Given the description of an element on the screen output the (x, y) to click on. 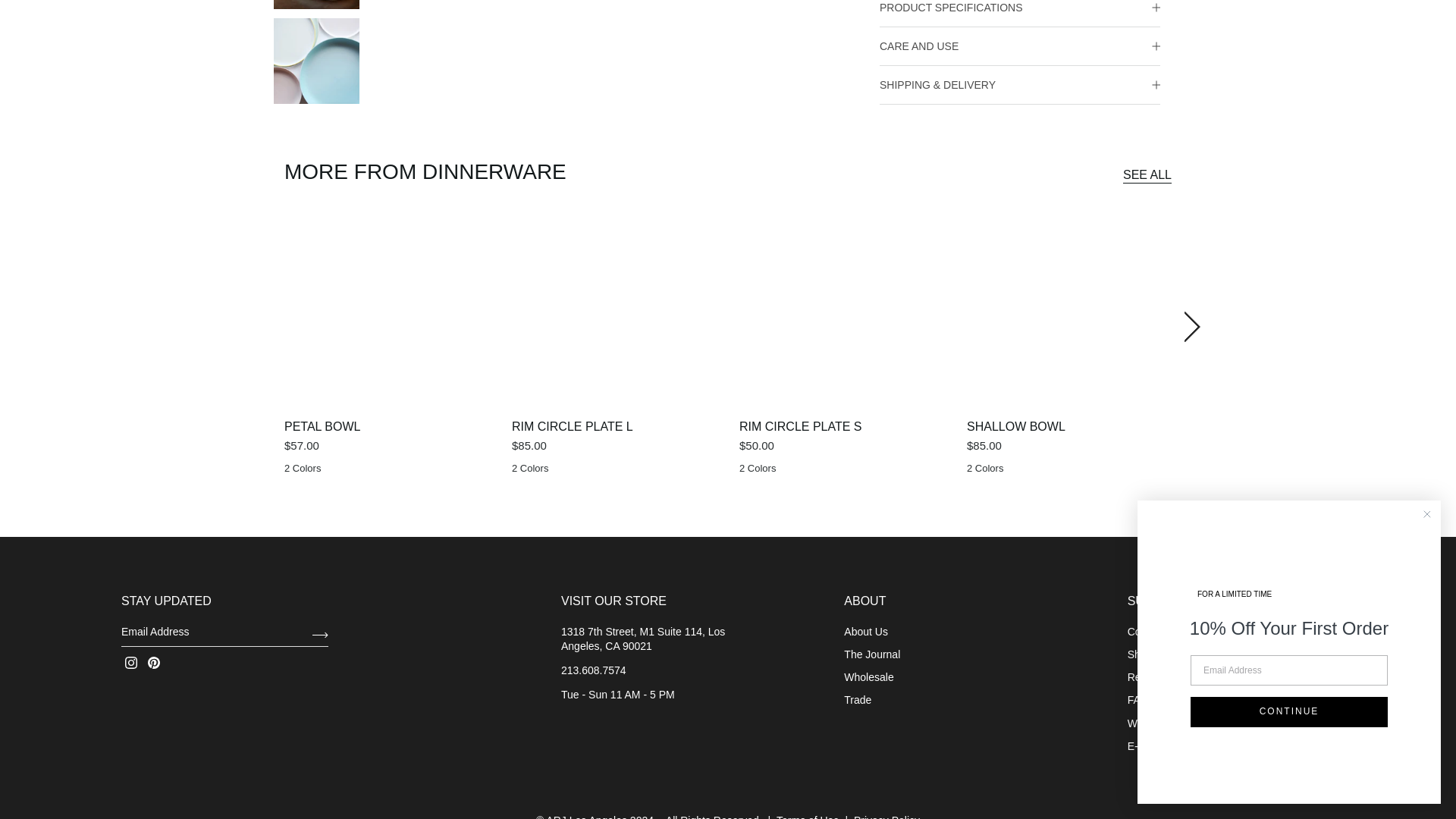
tel:213.608.7574 (593, 670)
